Given the description of an element on the screen output the (x, y) to click on. 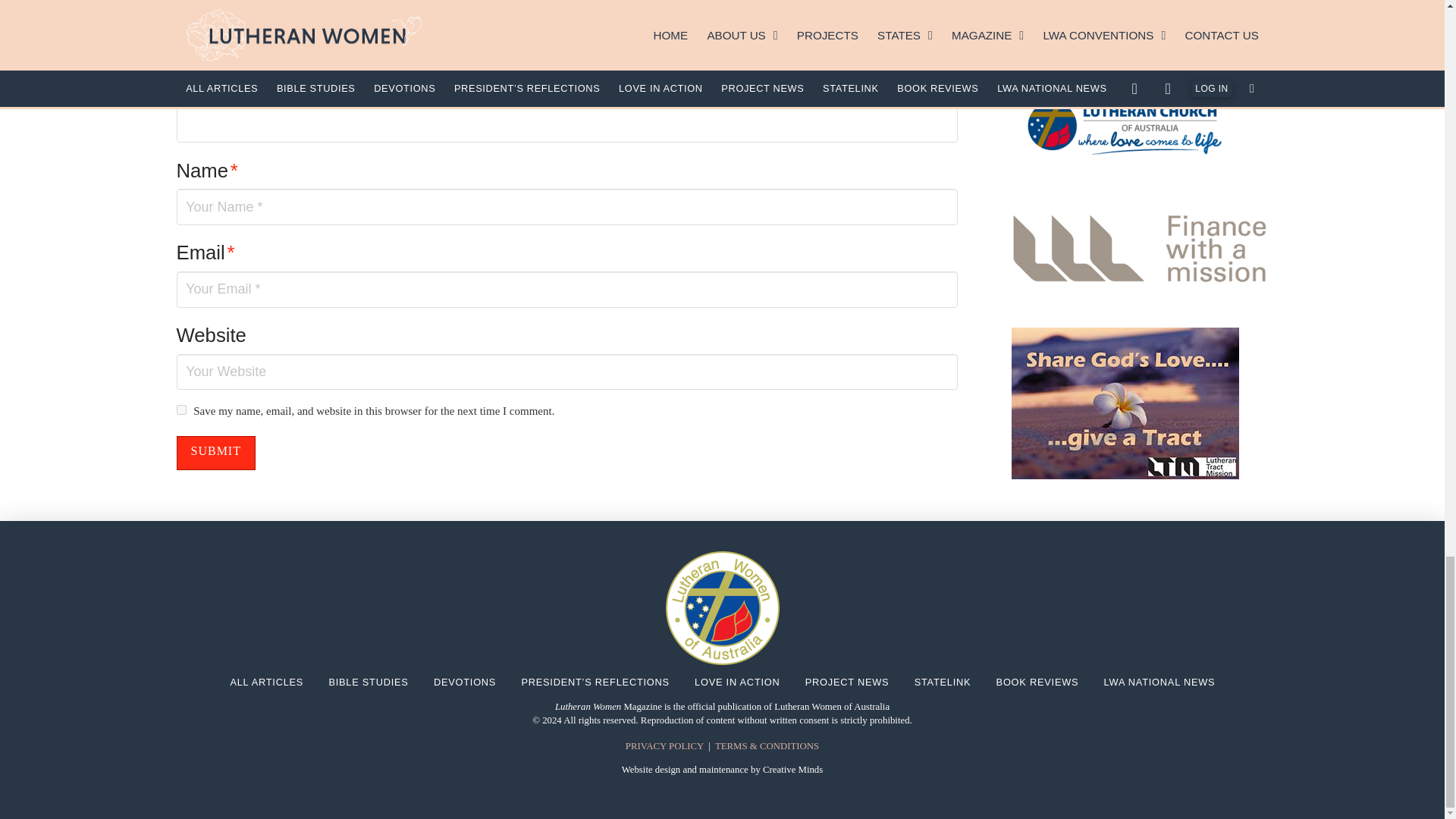
Submit (215, 452)
yes (181, 409)
Submit (215, 452)
